Given the description of an element on the screen output the (x, y) to click on. 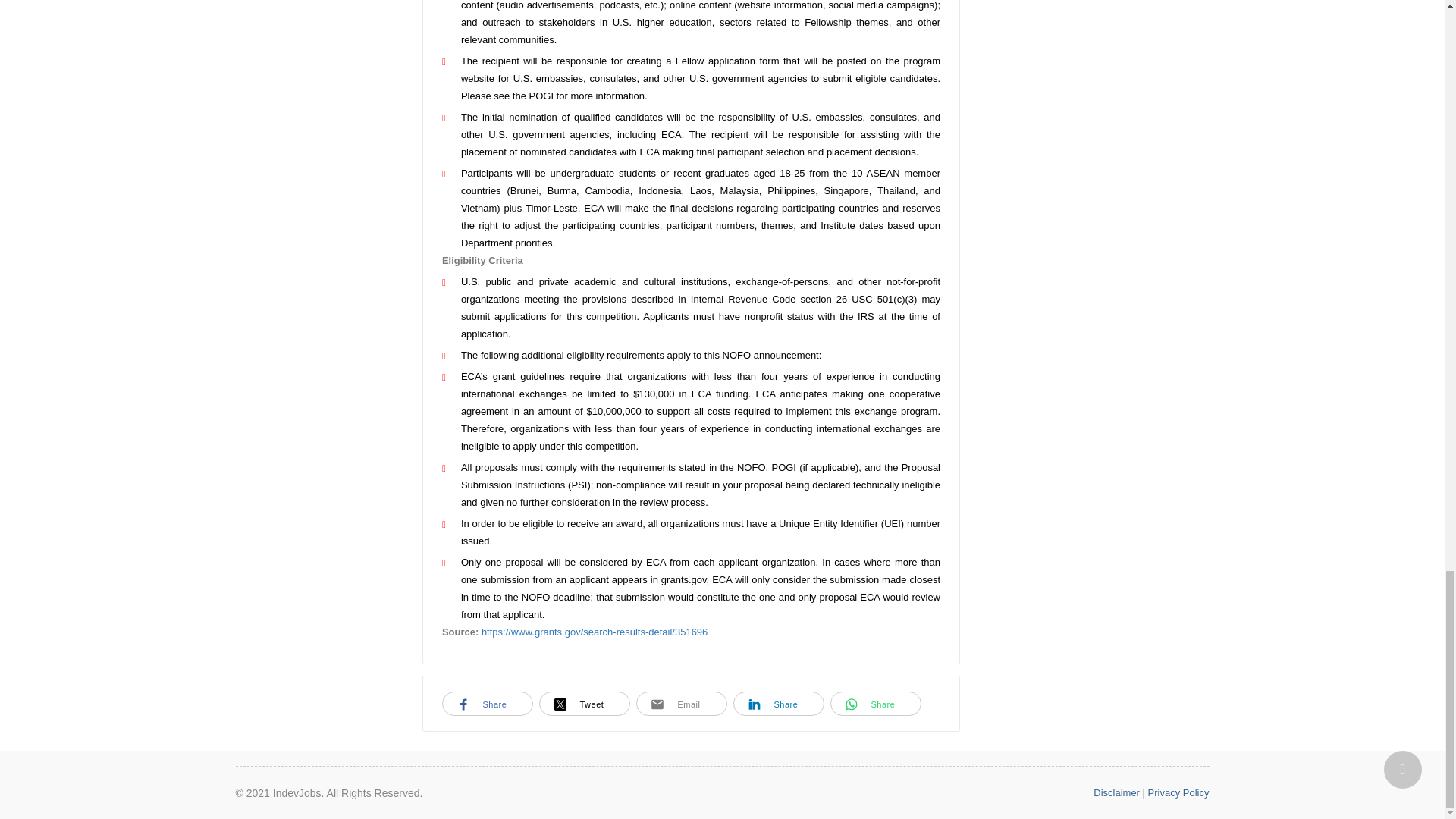
Disclaimer (1116, 792)
Privacy Policy (1178, 792)
